Given the description of an element on the screen output the (x, y) to click on. 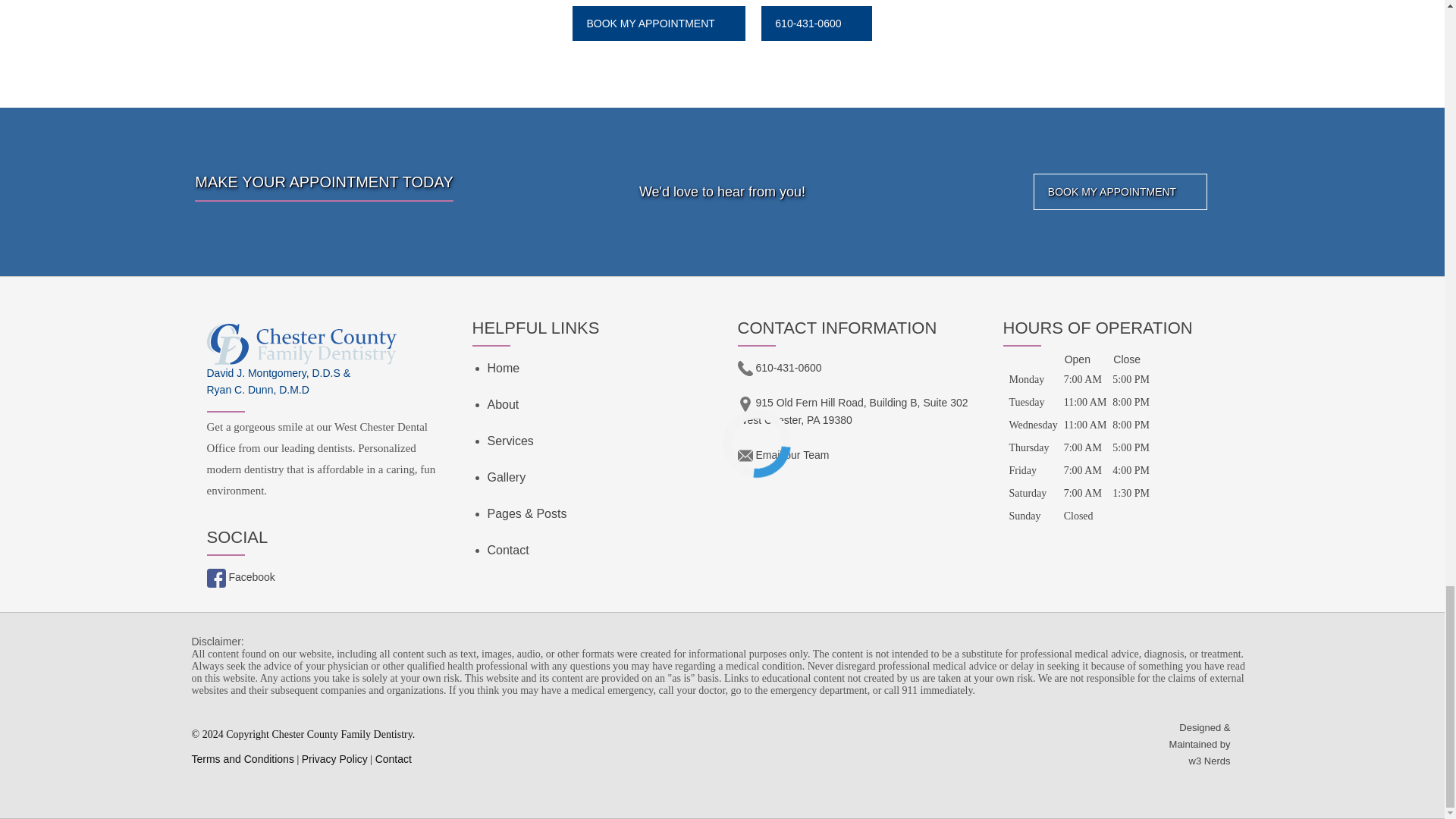
BOOK MY APPOINTMENT (1120, 191)
610-431-0600 (816, 22)
BOOK MY APPOINTMENT (658, 22)
